Given the description of an element on the screen output the (x, y) to click on. 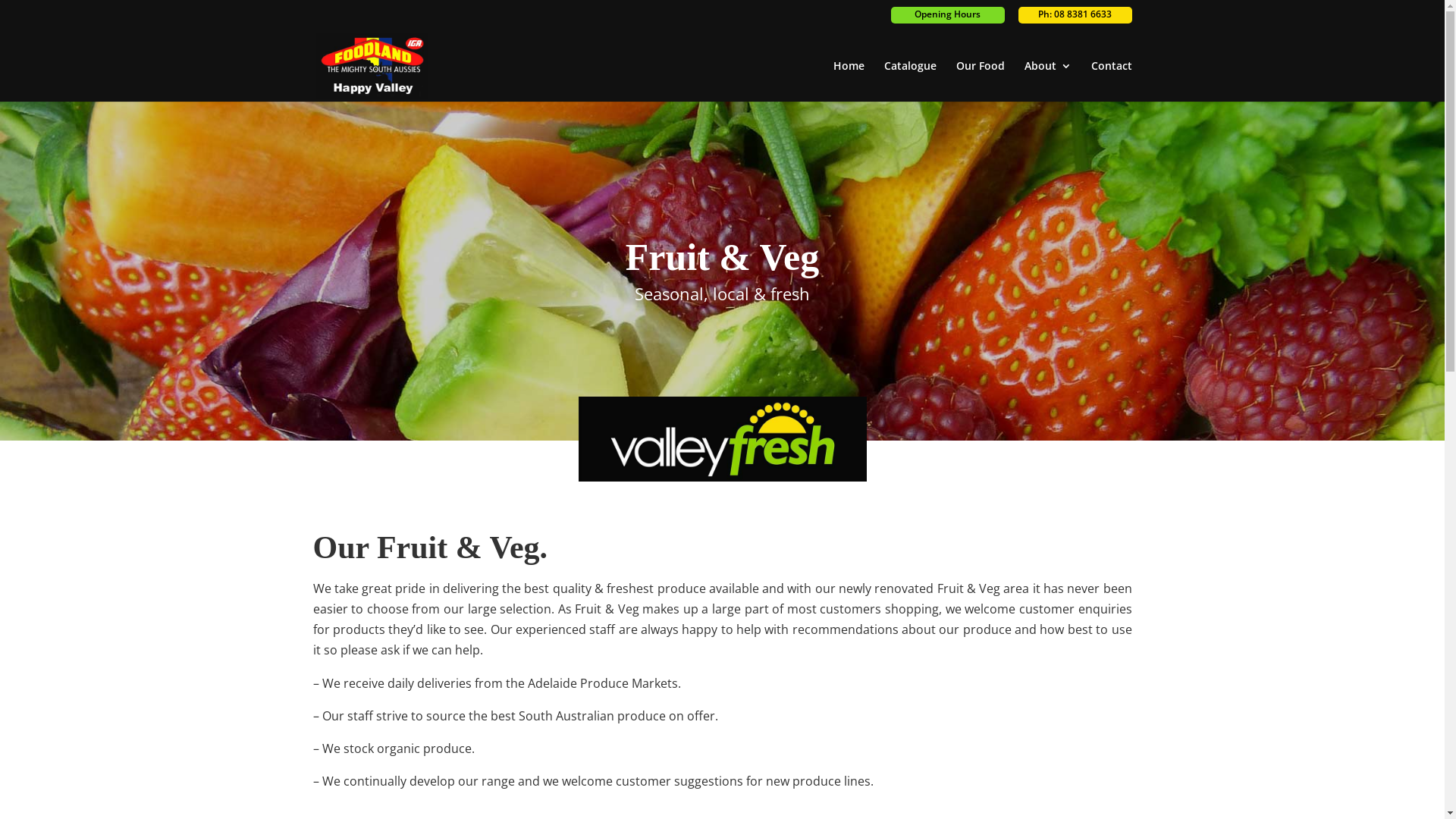
Contact Element type: text (1110, 80)
Opening Hours Element type: text (946, 14)
About Element type: text (1046, 80)
Catalogue Element type: text (910, 80)
Home Element type: text (847, 80)
Ph: 08 8381 6633 Element type: text (1074, 14)
Our Food Element type: text (979, 80)
